Given the description of an element on the screen output the (x, y) to click on. 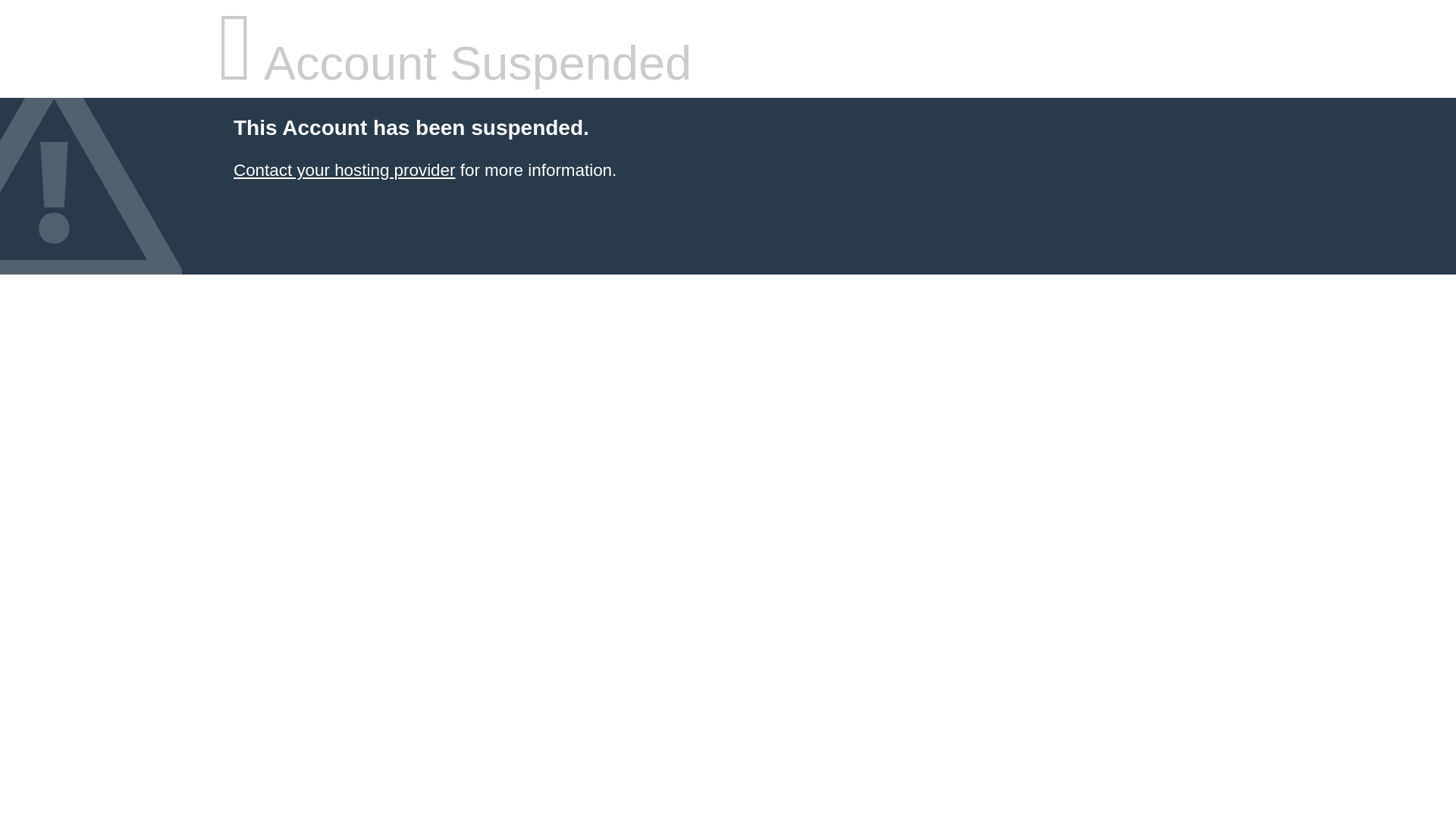
Contact your hosting provider (343, 169)
